Given the description of an element on the screen output the (x, y) to click on. 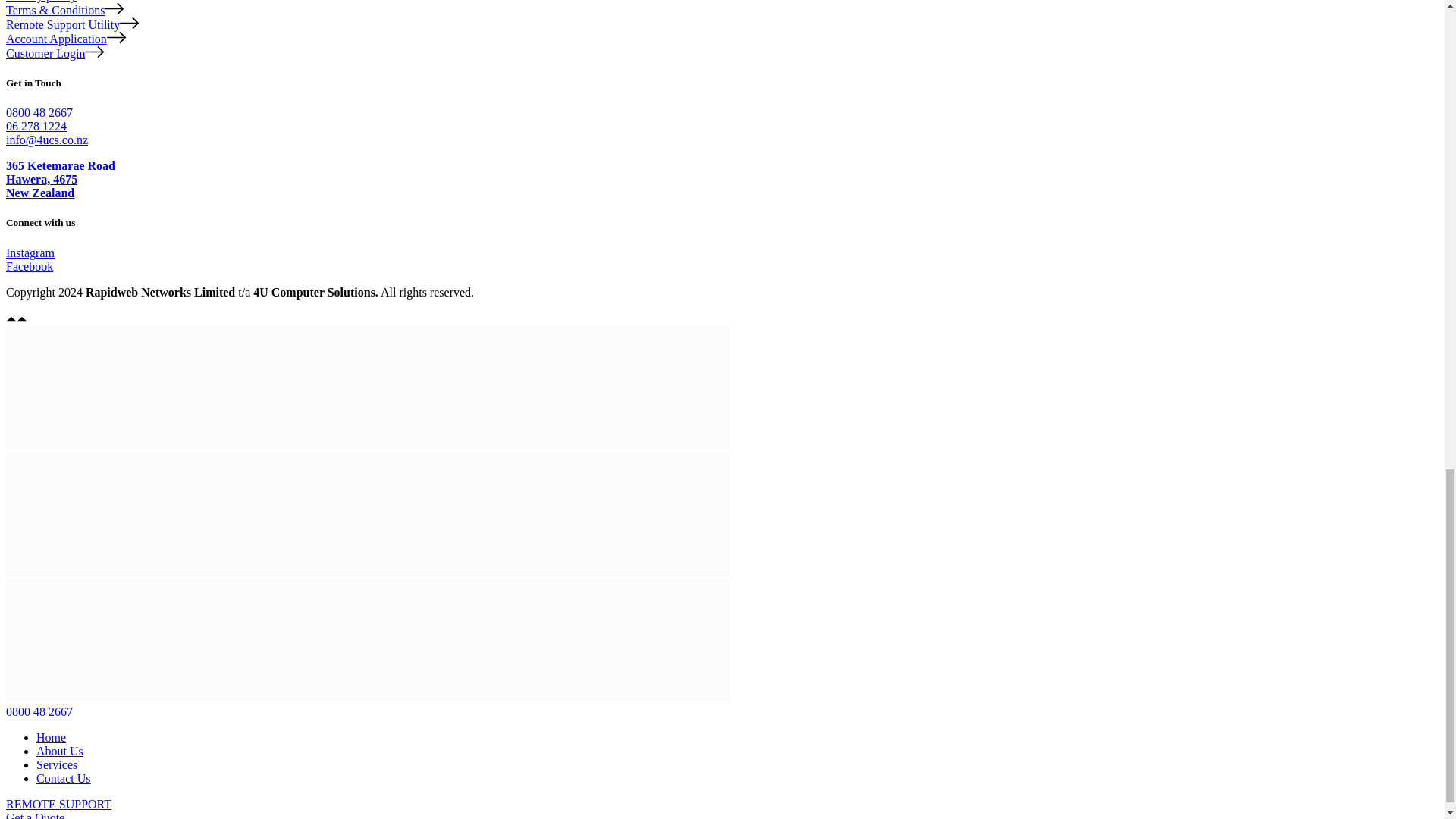
365 Ketemarae Road (60, 164)
About Us (59, 750)
New Zealand (39, 192)
Contact Us (63, 778)
06 278 1224 (35, 125)
Customer Login (54, 52)
Services (56, 764)
Remote Support Utility (71, 24)
Hawera, 4675 (41, 178)
Privacy policy (50, 1)
Account Application (65, 38)
Home (50, 737)
0800 48 2667 (38, 112)
